Given the description of an element on the screen output the (x, y) to click on. 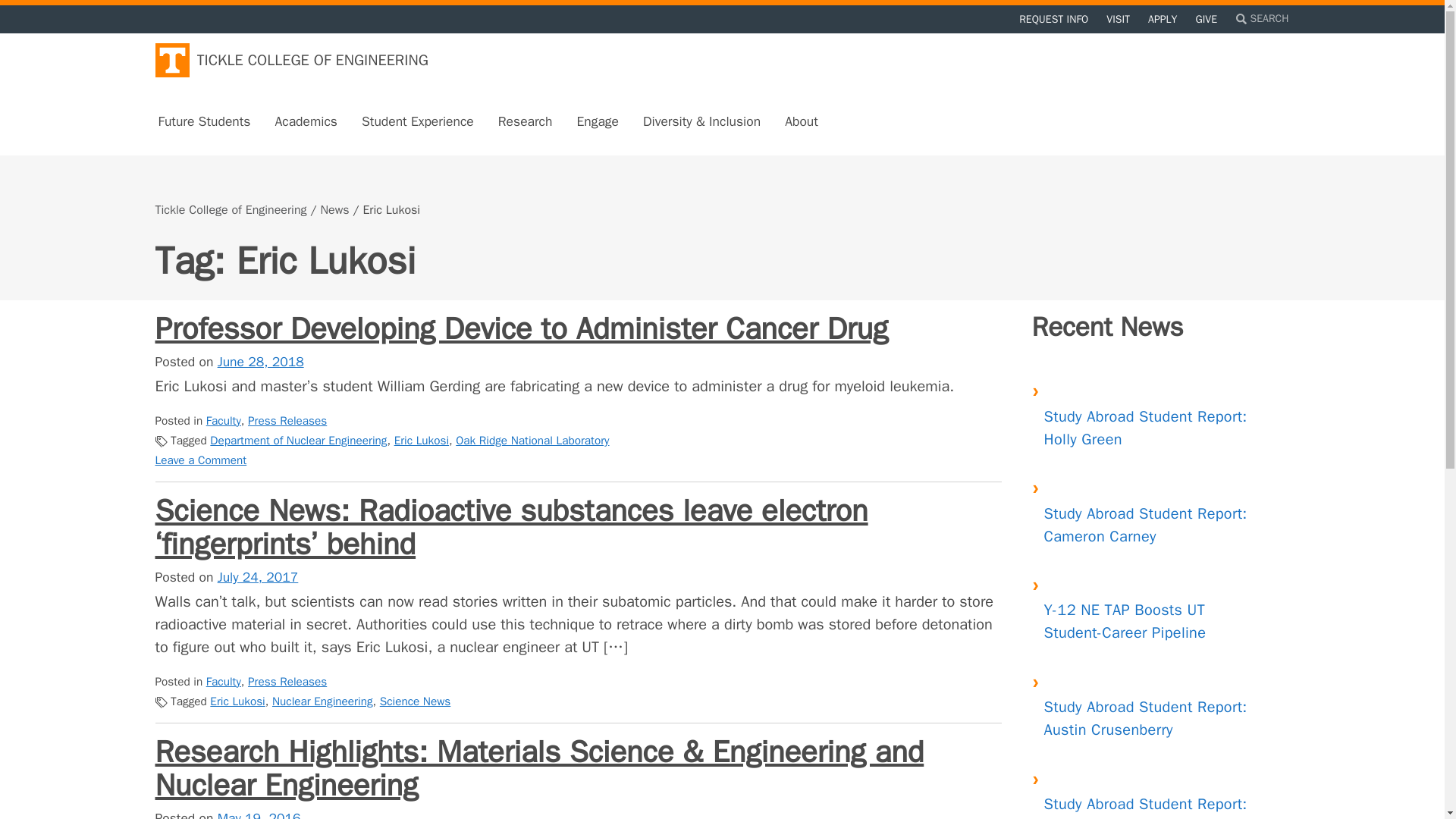
APPLY (1162, 18)
Go to News. (334, 209)
SEARCH (1262, 15)
Go to Tickle College of Engineering. (229, 209)
REQUEST INFO (1053, 18)
TICKLE COLLEGE OF ENGINEERING (291, 60)
Academics (305, 120)
Future Students (203, 120)
